Given the description of an element on the screen output the (x, y) to click on. 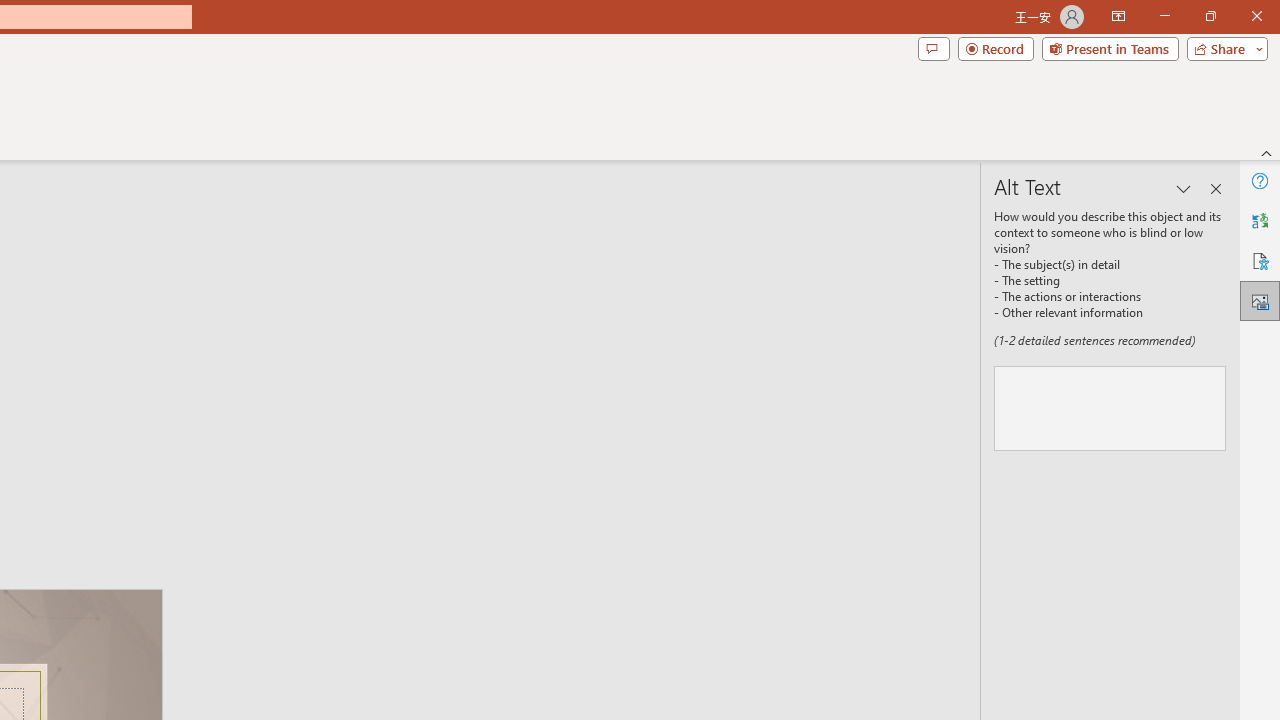
Translator (1260, 220)
